Given the description of an element on the screen output the (x, y) to click on. 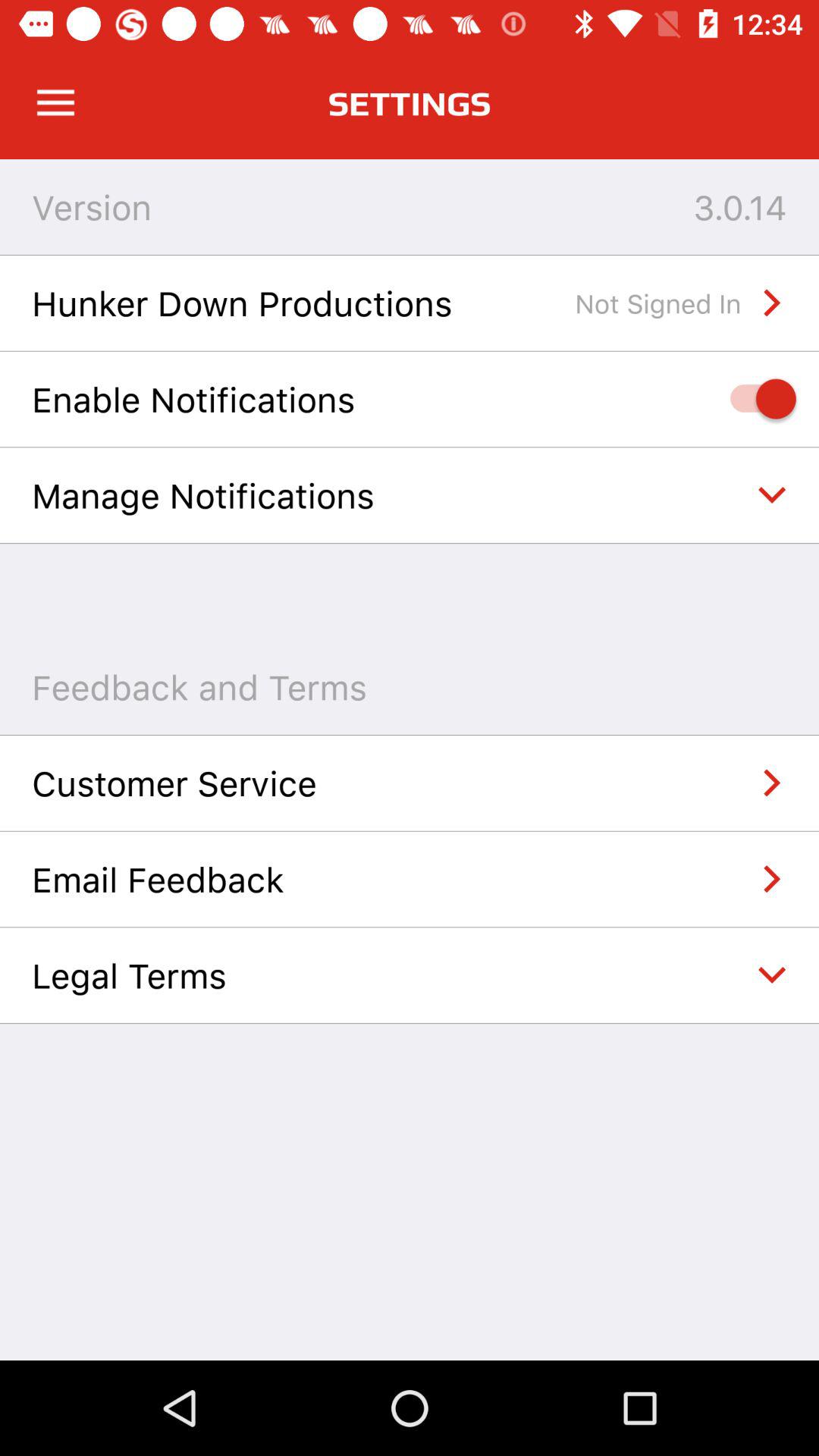
go to menu (55, 103)
